Given the description of an element on the screen output the (x, y) to click on. 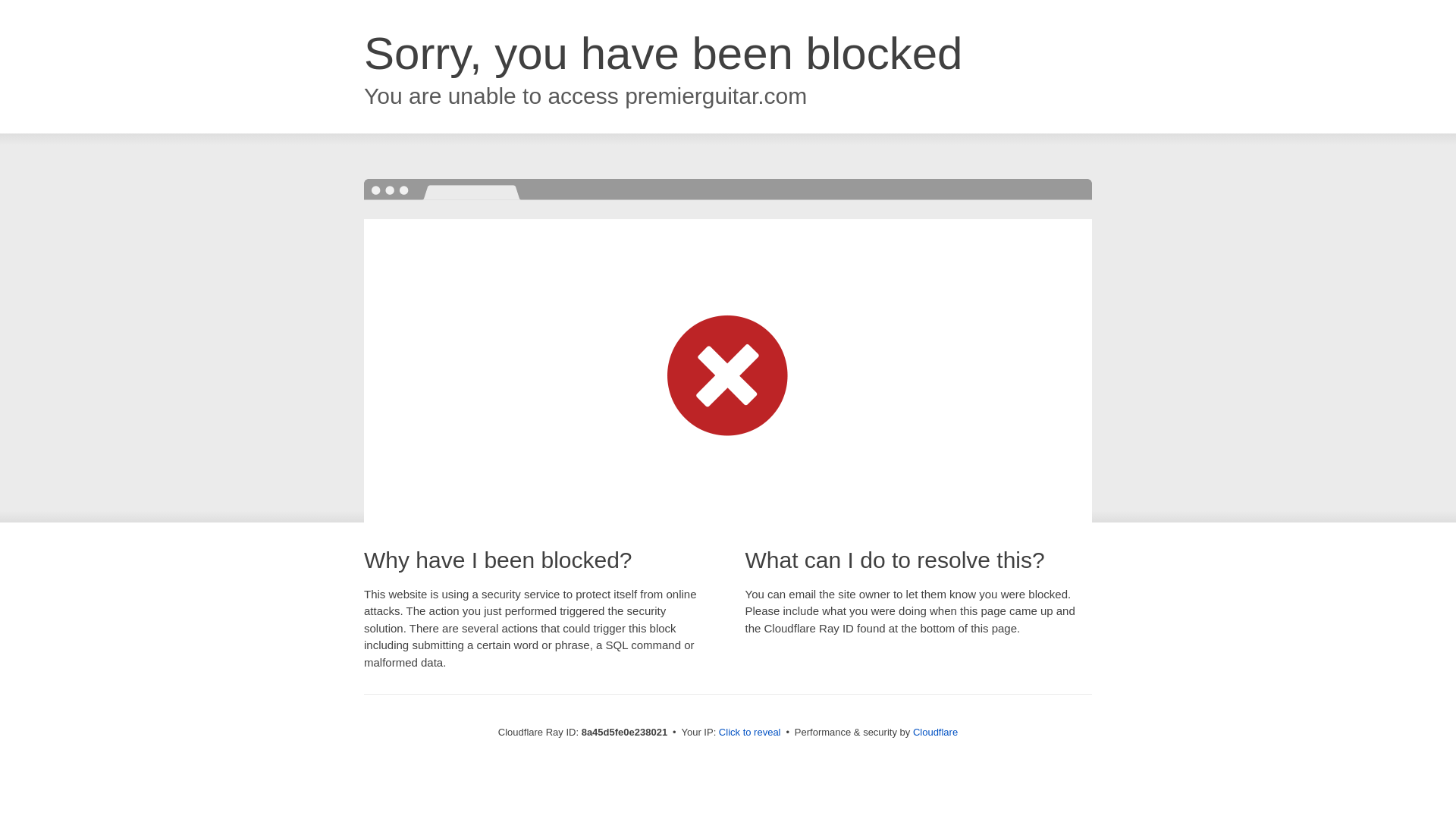
Cloudflare (935, 731)
Click to reveal (749, 732)
